Given the description of an element on the screen output the (x, y) to click on. 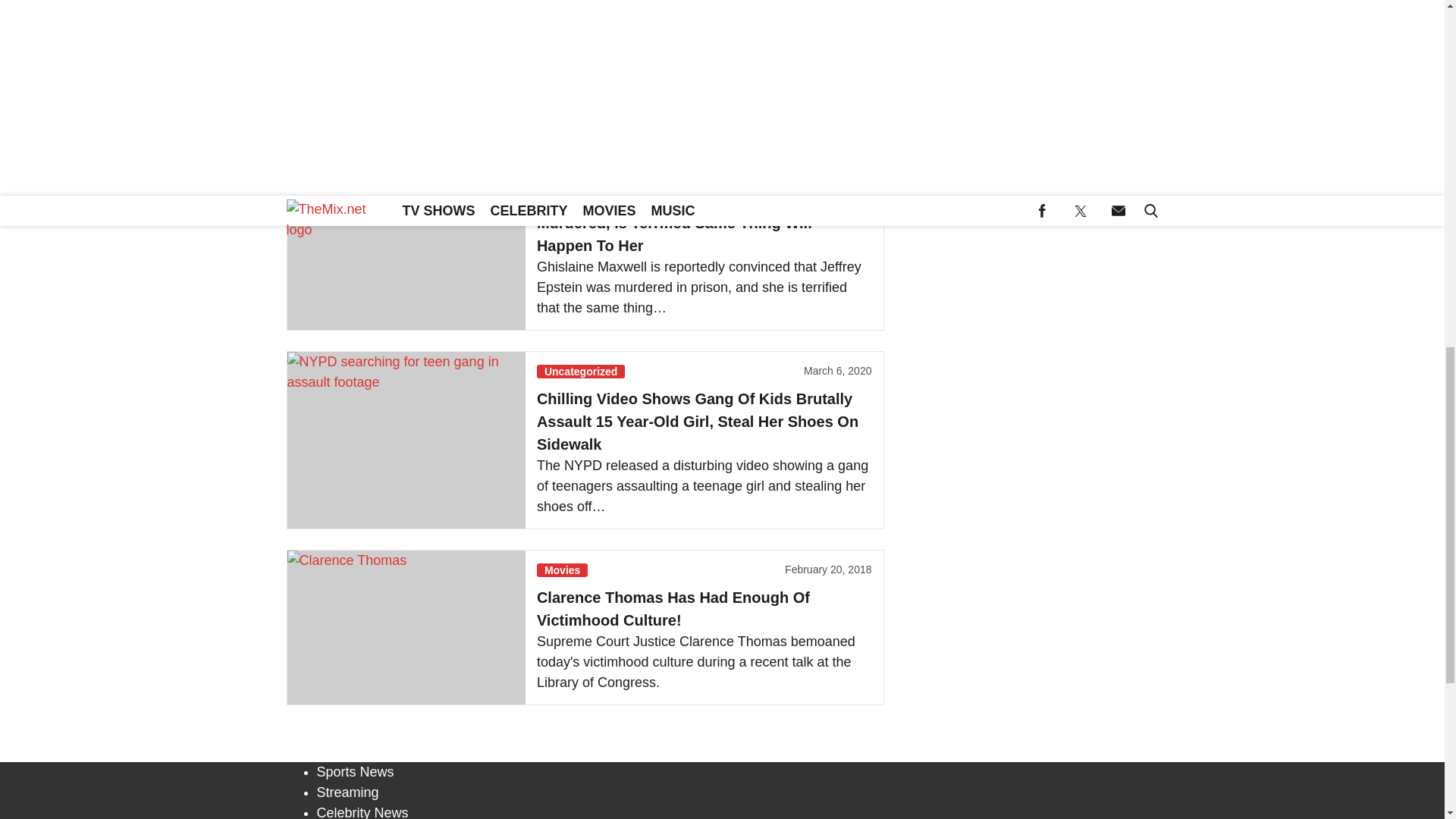
Clarence Thomas Has Had Enough Of Victimhood Culture! (405, 627)
Streaming (347, 792)
Clarence Thomas Has Had Enough Of Victimhood Culture! (673, 608)
TV Shows (569, 172)
Uncategorized (580, 371)
TV Shows (569, 2)
Sports News (355, 771)
